Given the description of an element on the screen output the (x, y) to click on. 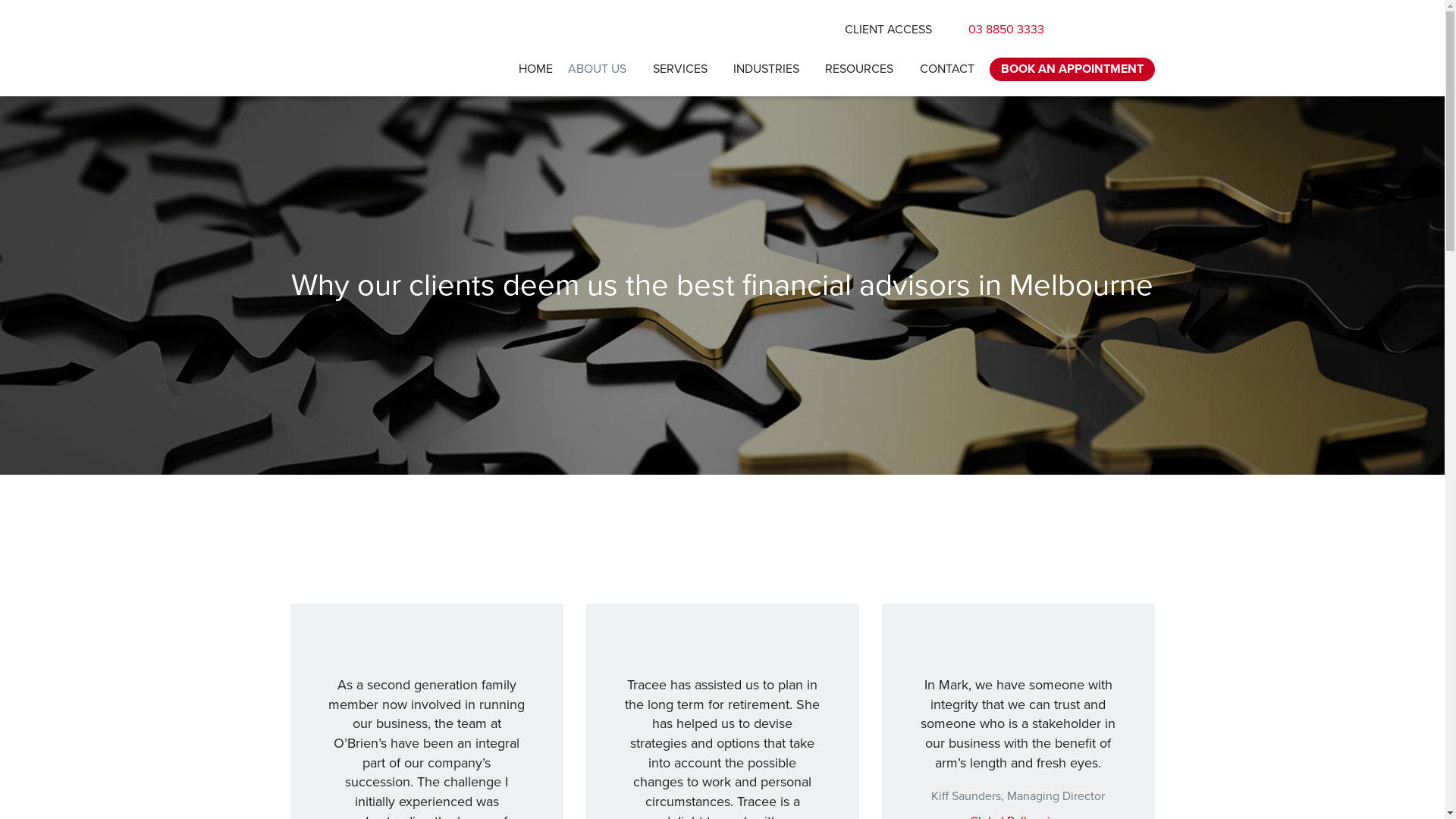
CLIENT ACCESS Element type: text (891, 29)
HOME Element type: text (535, 69)
RESOURCES  Element type: text (864, 69)
BOOK AN APPOINTMENT Element type: text (1071, 69)
CONTACT Element type: text (946, 69)
03 8850 3333 Element type: text (998, 29)
SERVICES  Element type: text (685, 69)
INDUSTRIES  Element type: text (771, 69)
ABOUT US  Element type: text (602, 69)
